Given the description of an element on the screen output the (x, y) to click on. 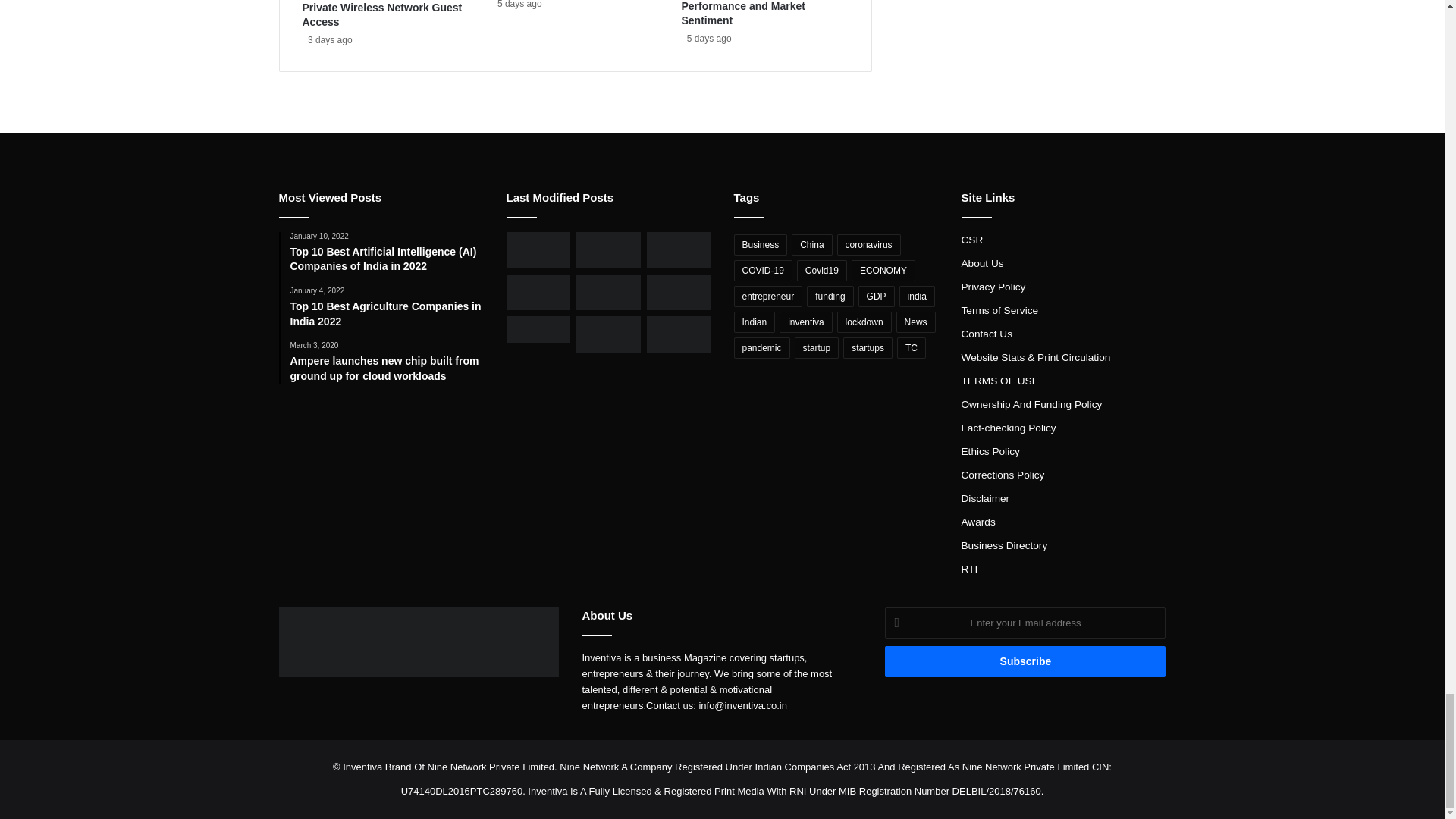
Subscribe (1025, 661)
